Given the description of an element on the screen output the (x, y) to click on. 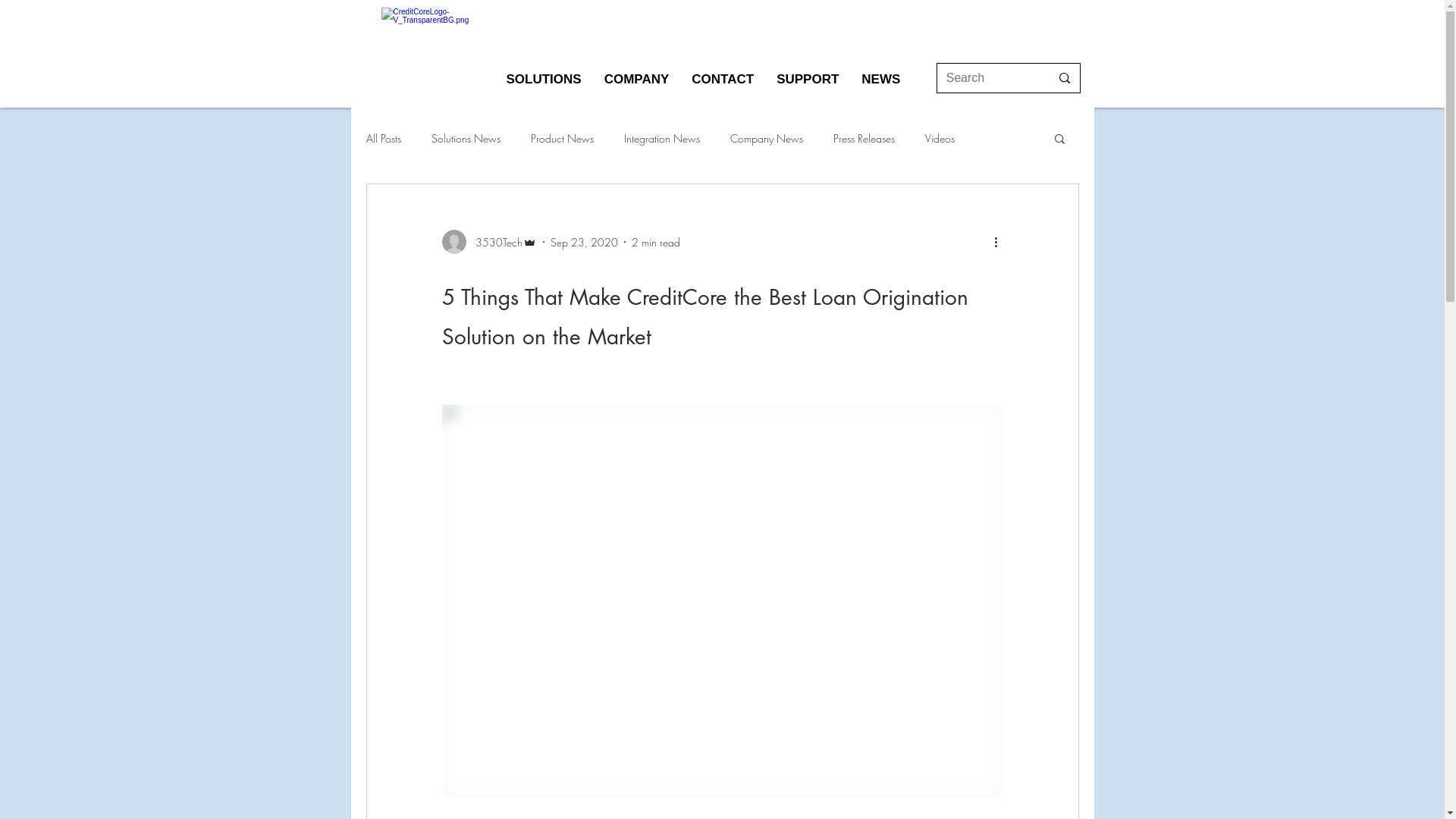
All Posts Element type: text (382, 137)
3530Tech Element type: text (488, 241)
NEWS Element type: text (880, 81)
Videos Element type: text (939, 137)
CONTACT Element type: text (722, 81)
Product News Element type: text (561, 137)
Integration News Element type: text (661, 137)
COMPANY Element type: text (636, 81)
Company News Element type: text (765, 137)
SUPPORT Element type: text (807, 81)
Press Releases Element type: text (863, 137)
Solutions News Element type: text (464, 137)
